Given the description of an element on the screen output the (x, y) to click on. 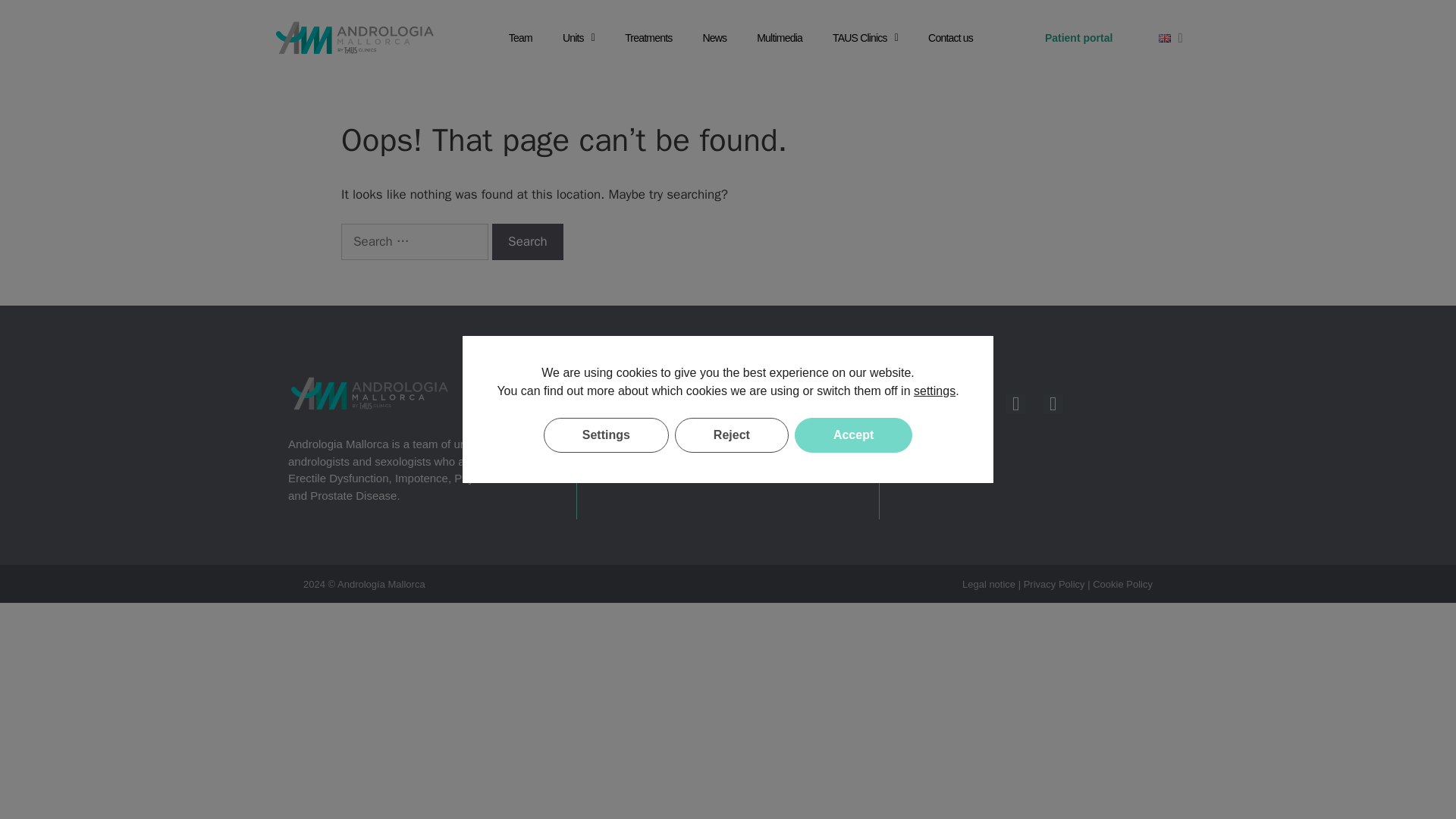
Search (527, 241)
TAUS Clinics (864, 38)
Search (527, 241)
Multimedia (778, 38)
Search for: (413, 241)
Contact us (950, 38)
Treatments (648, 38)
